Given the description of an element on the screen output the (x, y) to click on. 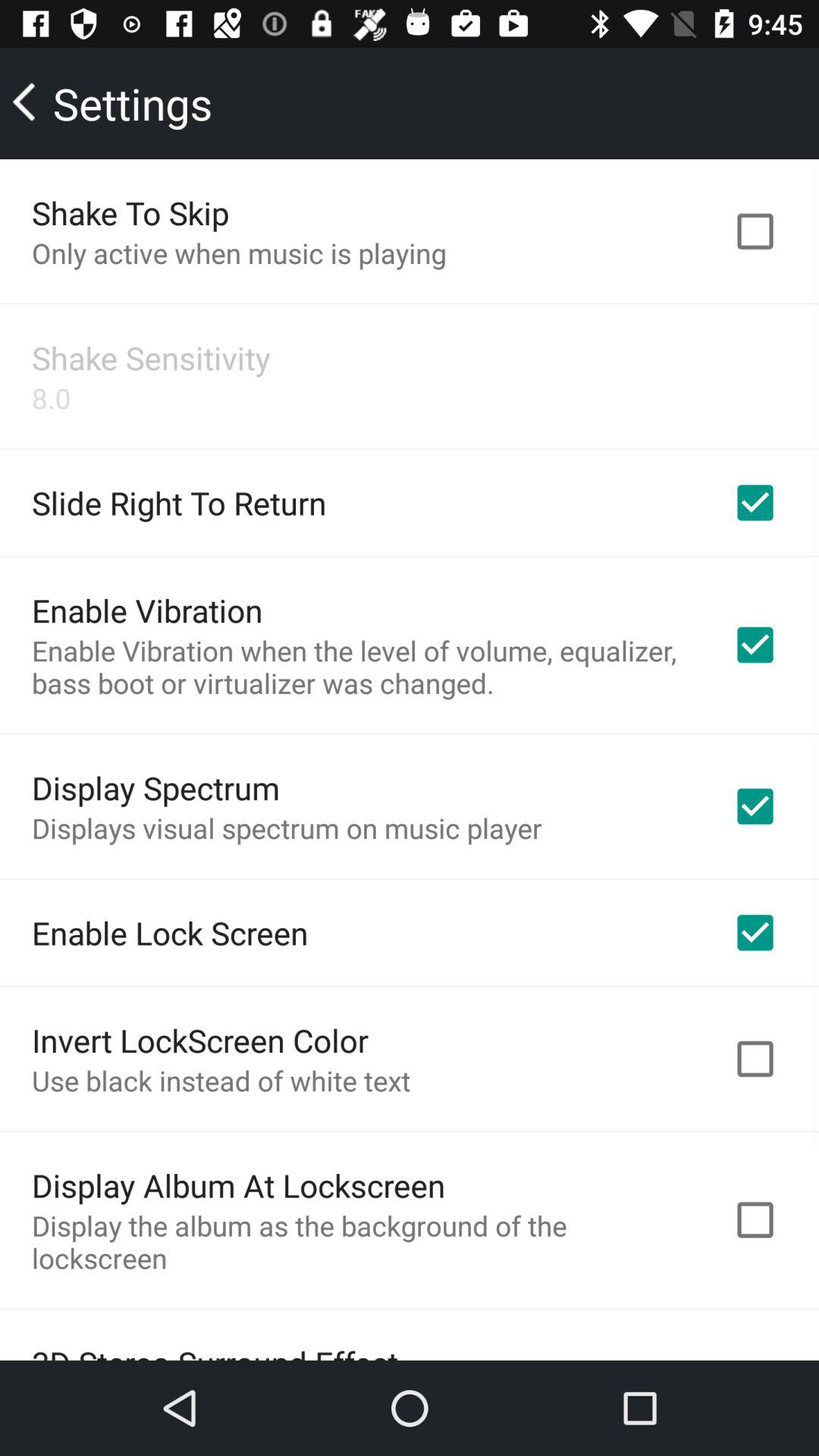
click the slide right to app (178, 502)
